Given the description of an element on the screen output the (x, y) to click on. 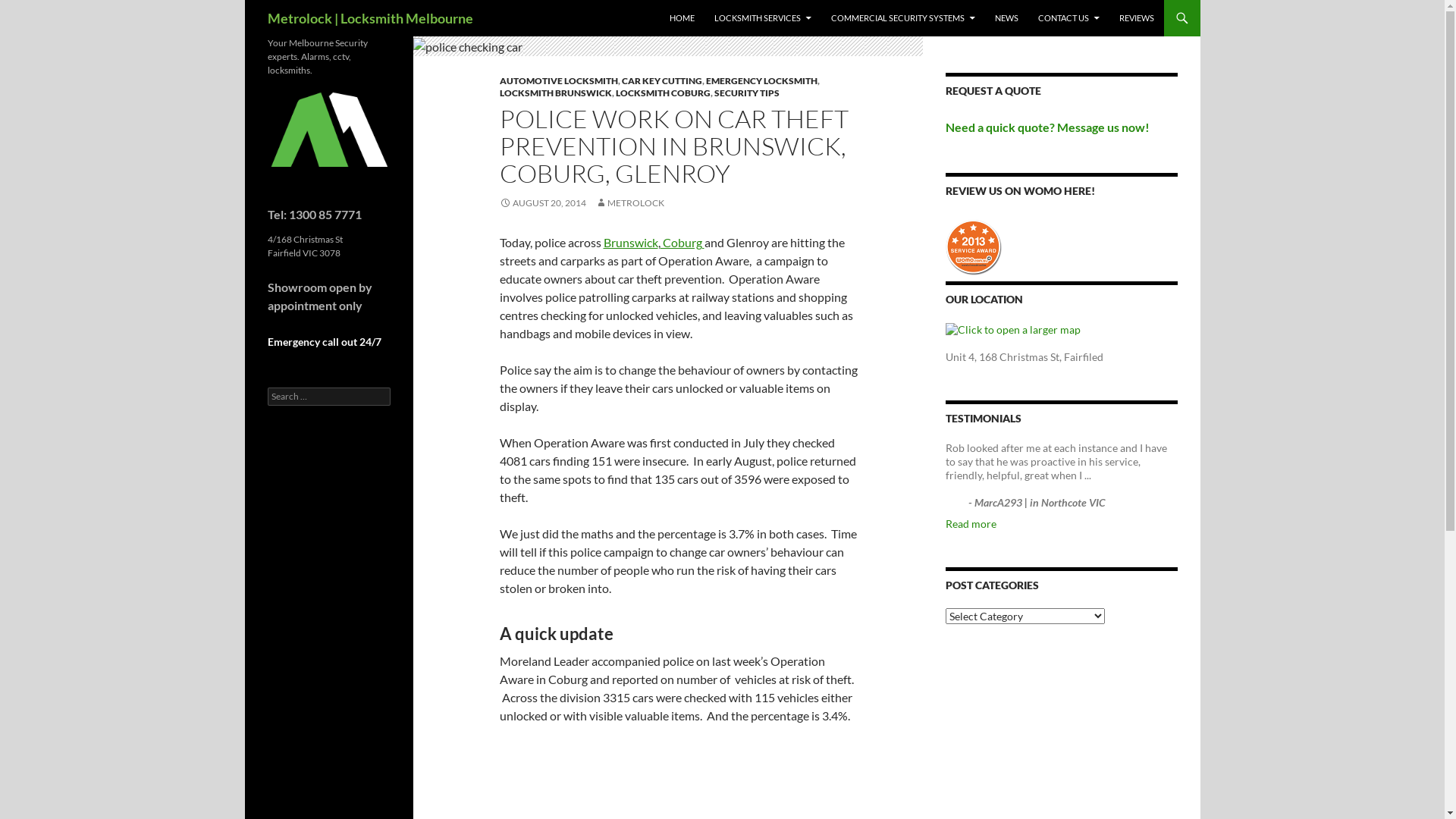
NEWS Element type: text (1006, 18)
LOCKSMITH BRUNSWICK Element type: text (554, 92)
Read more Element type: text (969, 523)
HOME Element type: text (680, 18)
Metrolock | Locksmith Melbourne Element type: text (369, 18)
Search Element type: text (29, 9)
LOCKSMITH SERVICES Element type: text (762, 18)
Need a quick quote? Message us now! Element type: text (1046, 126)
Click to open a larger map Element type: hover (1011, 328)
AUTOMOTIVE LOCKSMITH Element type: text (557, 80)
CONTACT US Element type: text (1067, 18)
LOCKSMITH COBURG Element type: text (662, 92)
AUGUST 20, 2014 Element type: text (541, 202)
METROLOCK Element type: text (628, 202)
Coburg Element type: text (681, 242)
Brunswick Element type: text (630, 242)
SECURITY TIPS Element type: text (746, 92)
REVIEWS Element type: text (1136, 18)
CAR KEY CUTTING Element type: text (661, 80)
Emergency call out 24/7 Element type: text (323, 341)
EMERGENCY LOCKSMITH Element type: text (760, 80)
Click to open a larger map Element type: hover (1011, 329)
COMMERCIAL SECURITY SYSTEMS Element type: text (903, 18)
home locksmith Element type: hover (327, 128)
